Given the description of an element on the screen output the (x, y) to click on. 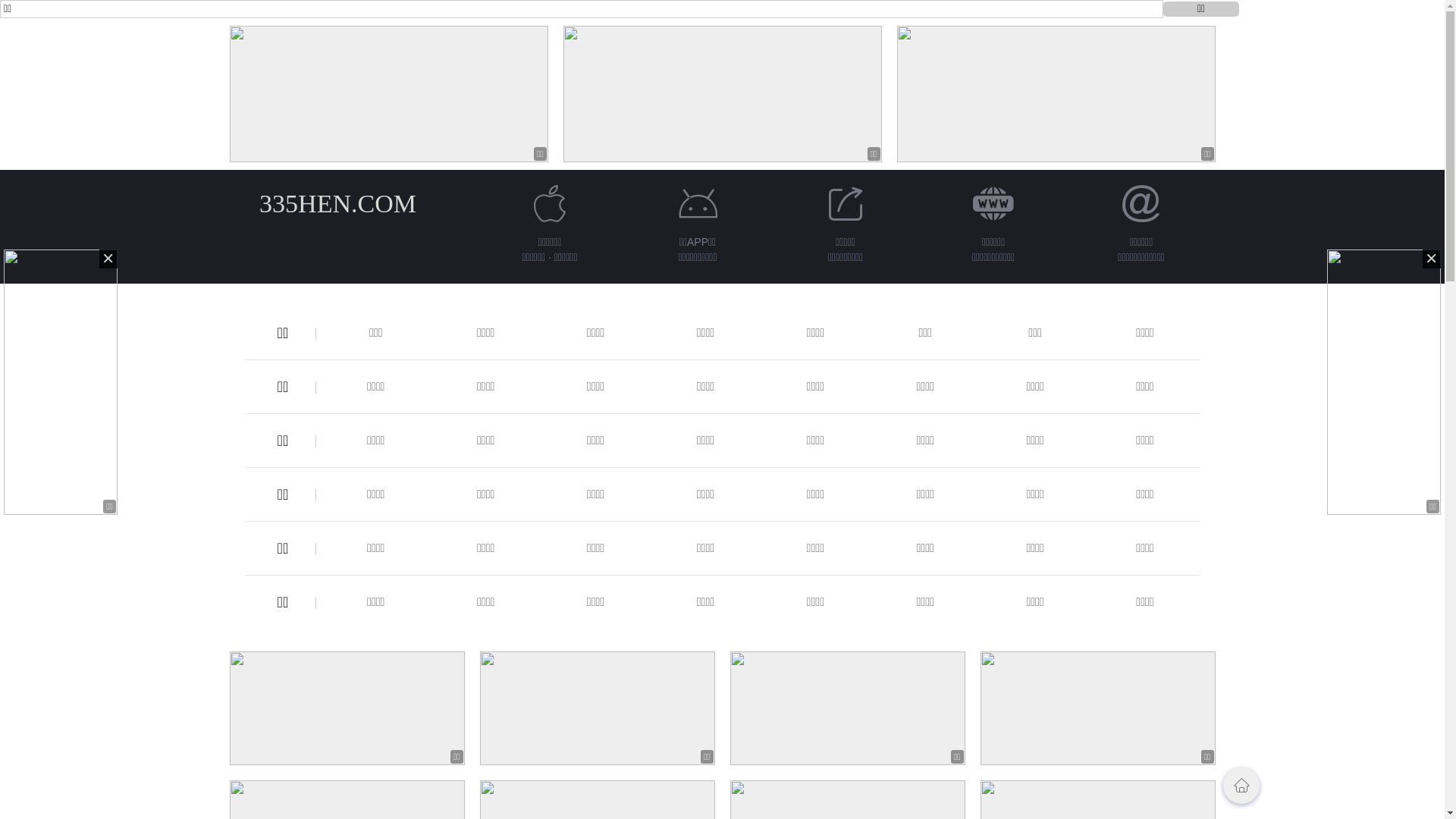
335HEN.COM Element type: text (337, 203)
